Given the description of an element on the screen output the (x, y) to click on. 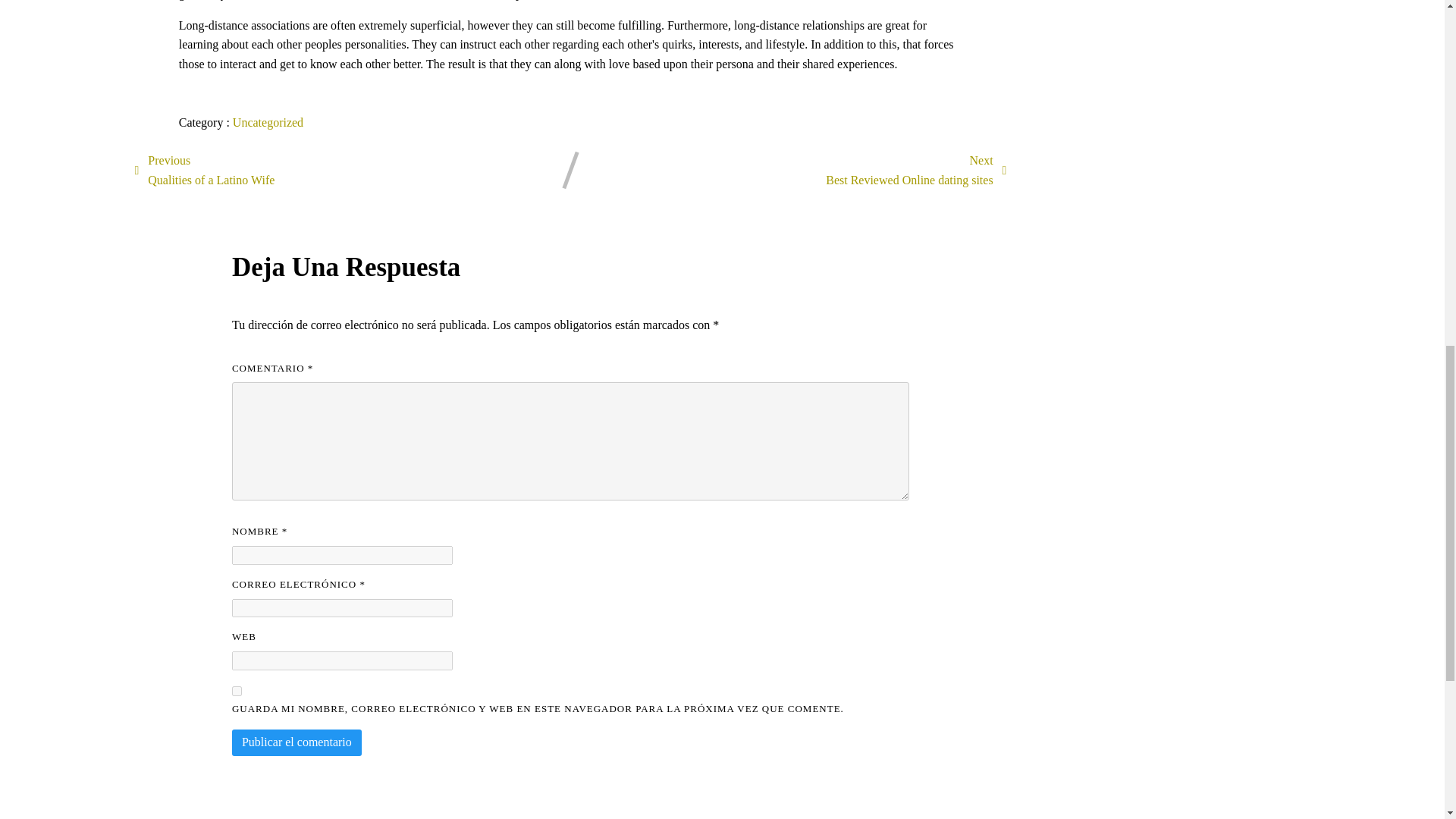
yes (236, 691)
Publicar el comentario (296, 742)
Publicar el comentario (296, 742)
Uncategorized (267, 122)
